Given the description of an element on the screen output the (x, y) to click on. 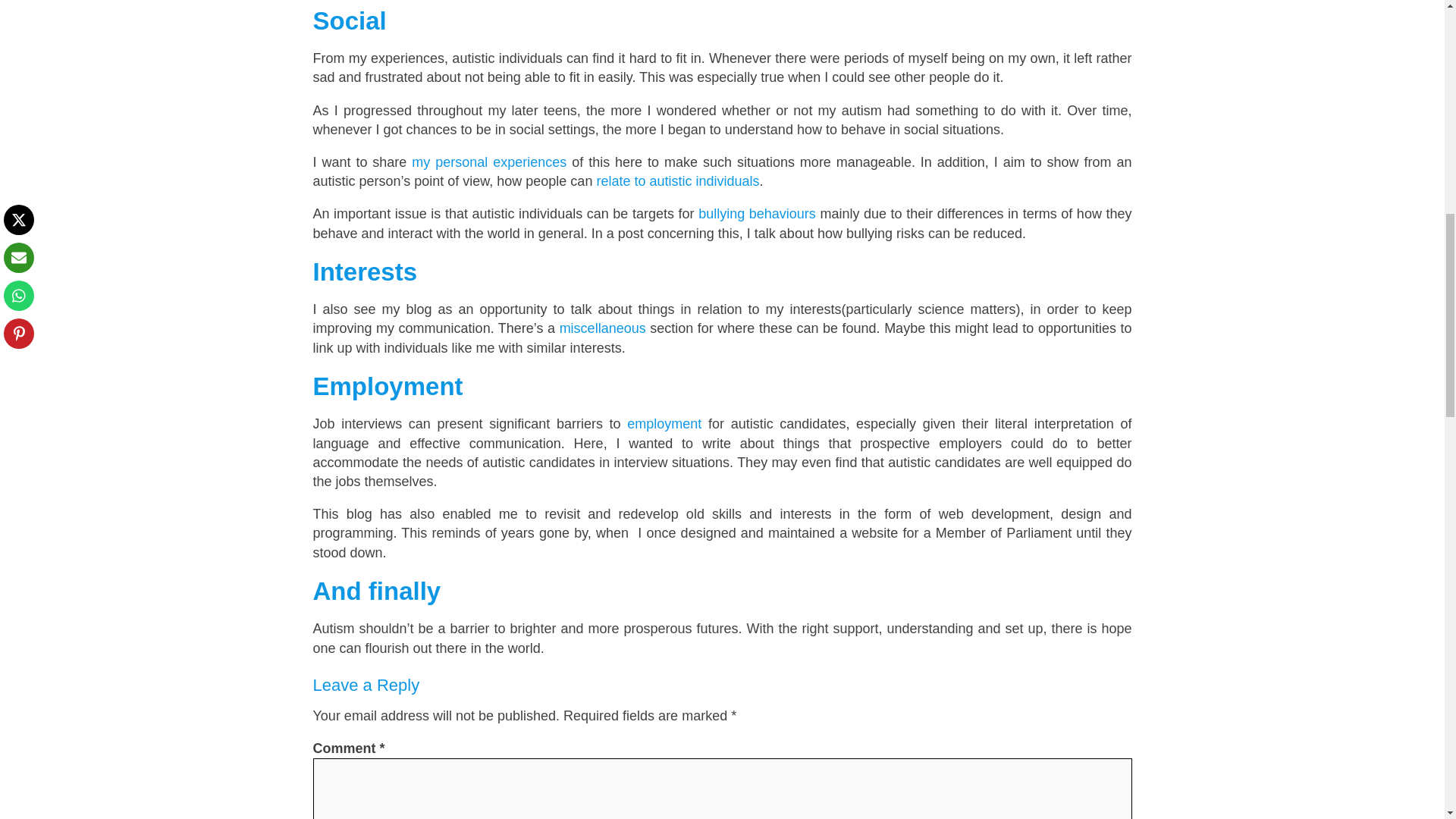
bullying behaviours (756, 213)
my personal experiences (489, 161)
relate to autistic individuals (676, 181)
miscellaneous (602, 328)
employment (664, 423)
